Given the description of an element on the screen output the (x, y) to click on. 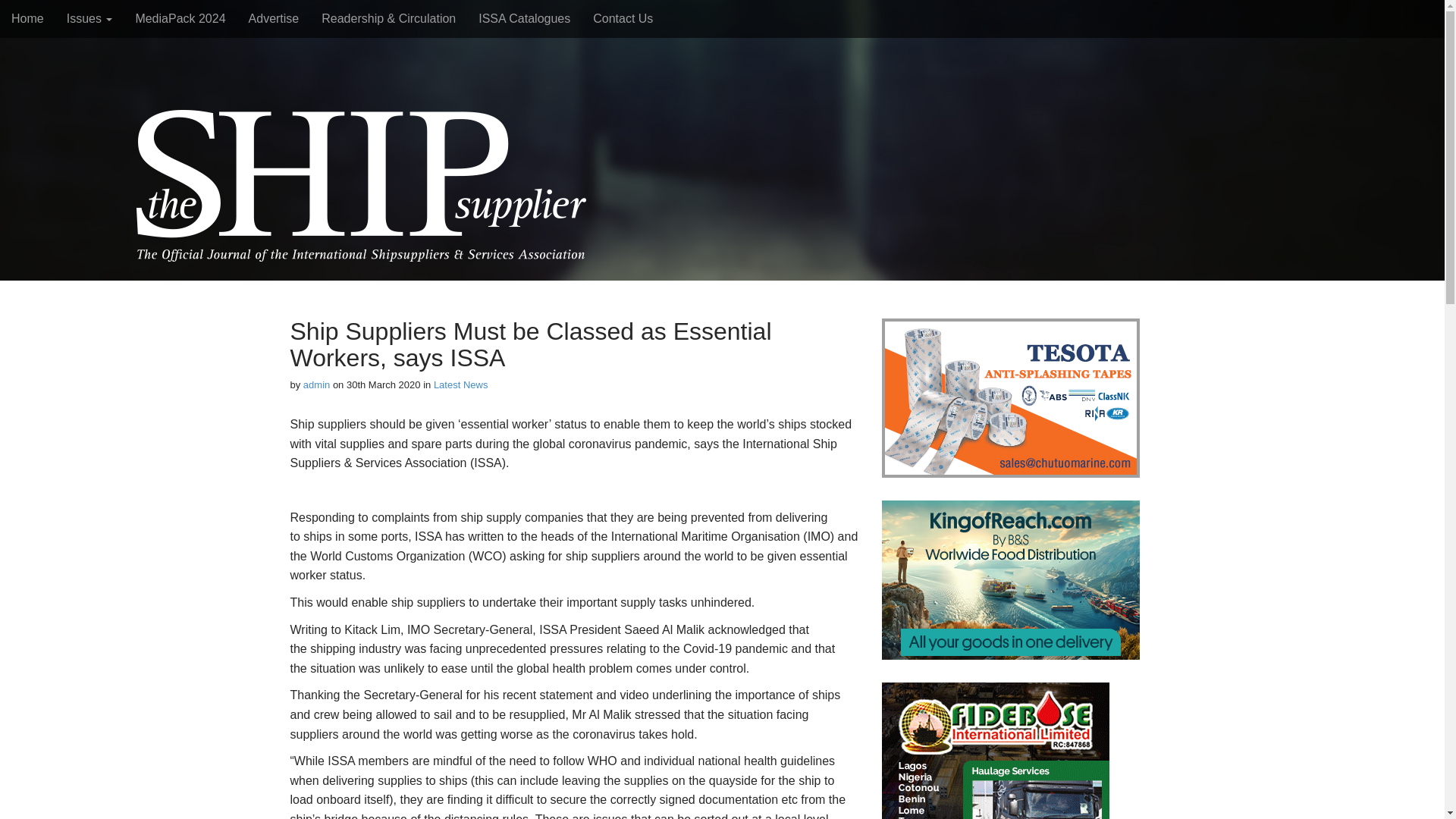
Issues (89, 18)
Advertise (274, 18)
admin (316, 384)
Posts by admin (316, 384)
MediaPack 2024 (179, 18)
Latest News (460, 384)
Contact Us (621, 18)
Home (27, 18)
30th March 2020 (383, 384)
ISSA Catalogues (523, 18)
